Given the description of an element on the screen output the (x, y) to click on. 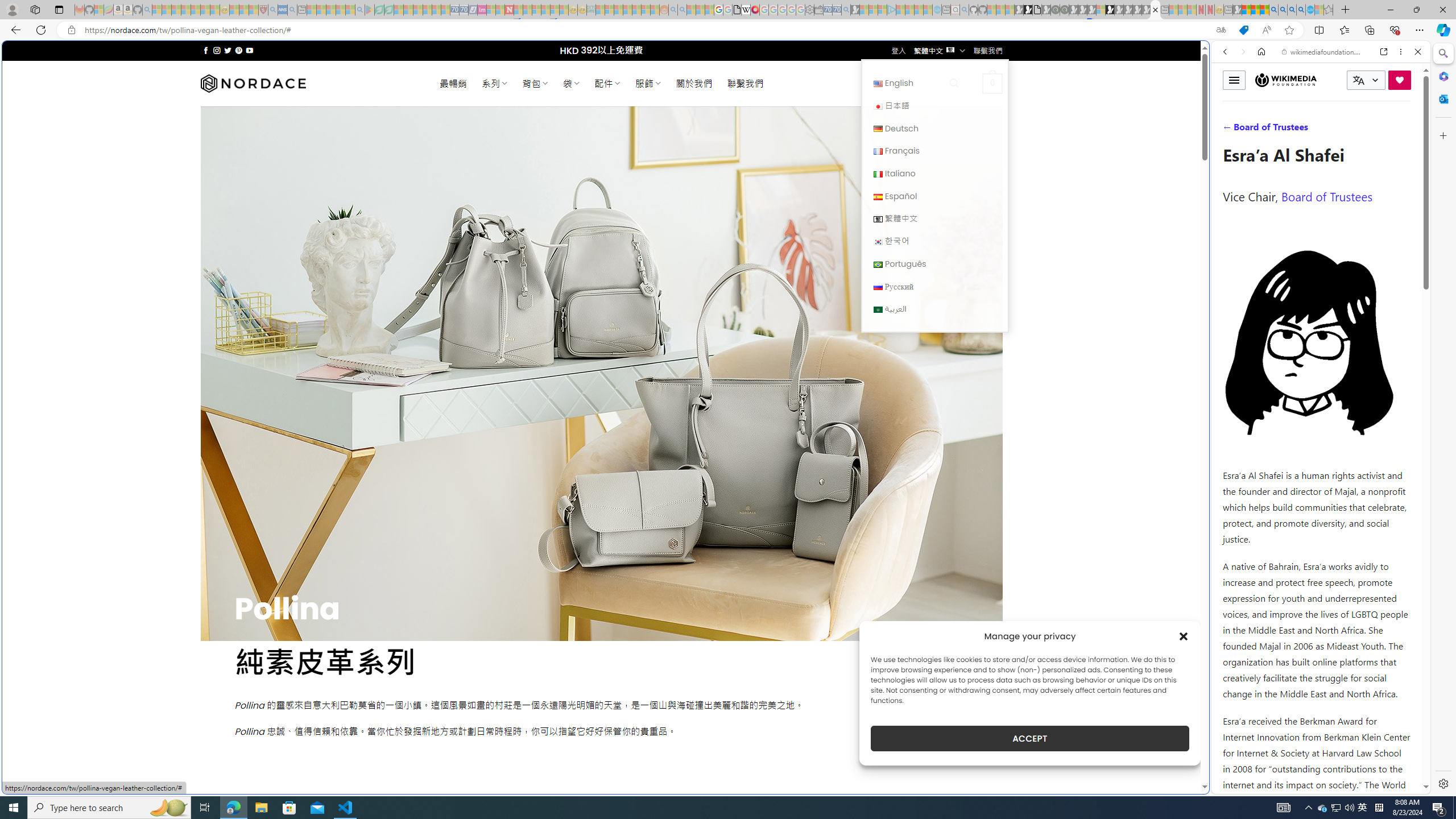
Target page - Wikipedia (745, 9)
Wikimedia Foundation (1286, 79)
Play Zoo Boom in your browser | Games from Microsoft Start (1027, 9)
Show translate options (1220, 29)
